Given the description of an element on the screen output the (x, y) to click on. 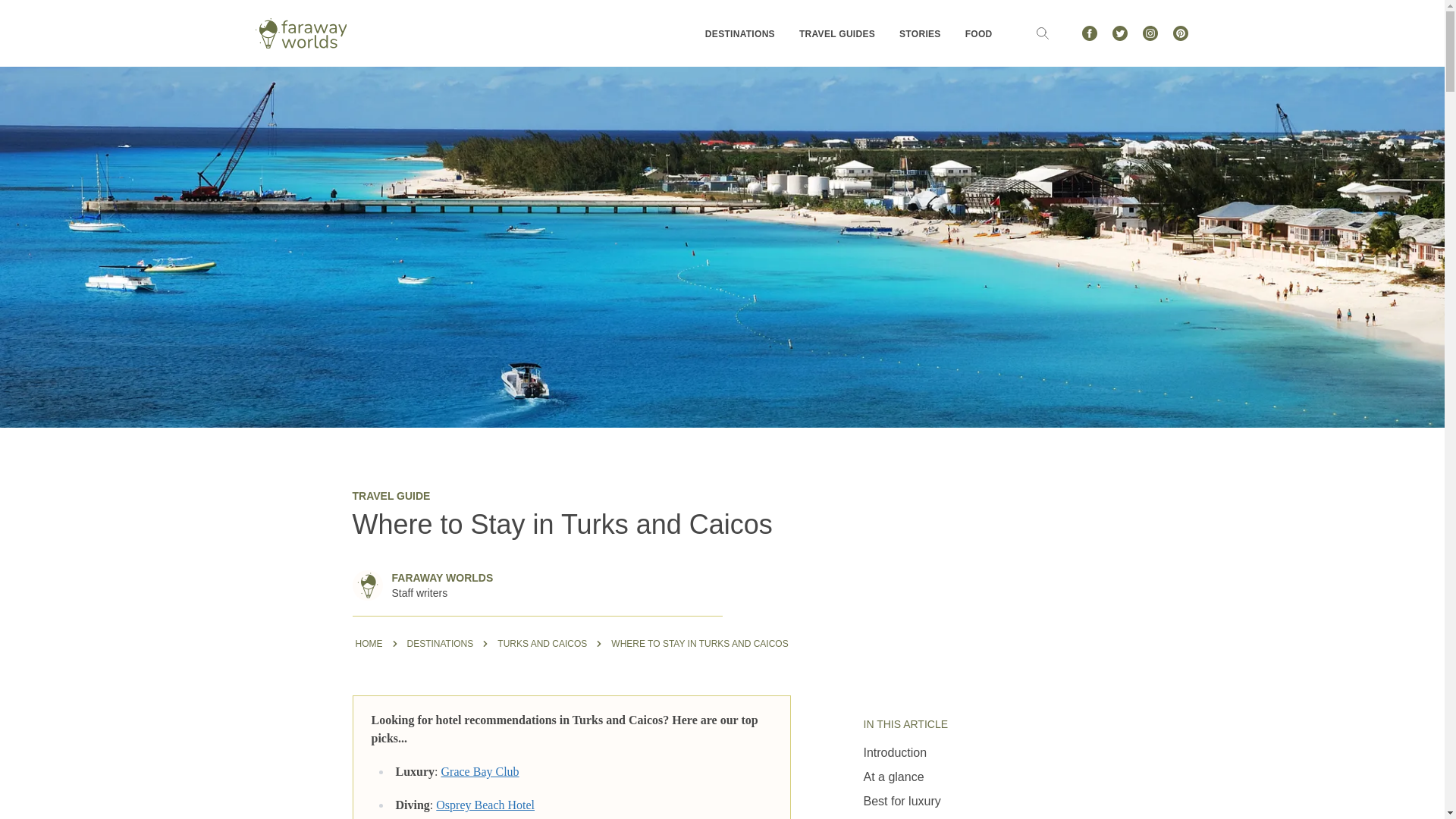
Grace Bay Club (480, 771)
DESTINATIONS (439, 643)
Best for culture (903, 816)
Osprey Beach Hotel (484, 804)
At a glance (893, 776)
FOOD (978, 33)
TURKS AND CAICOS (542, 643)
Introduction (895, 752)
STORIES (919, 33)
HOME (368, 643)
